Given the description of an element on the screen output the (x, y) to click on. 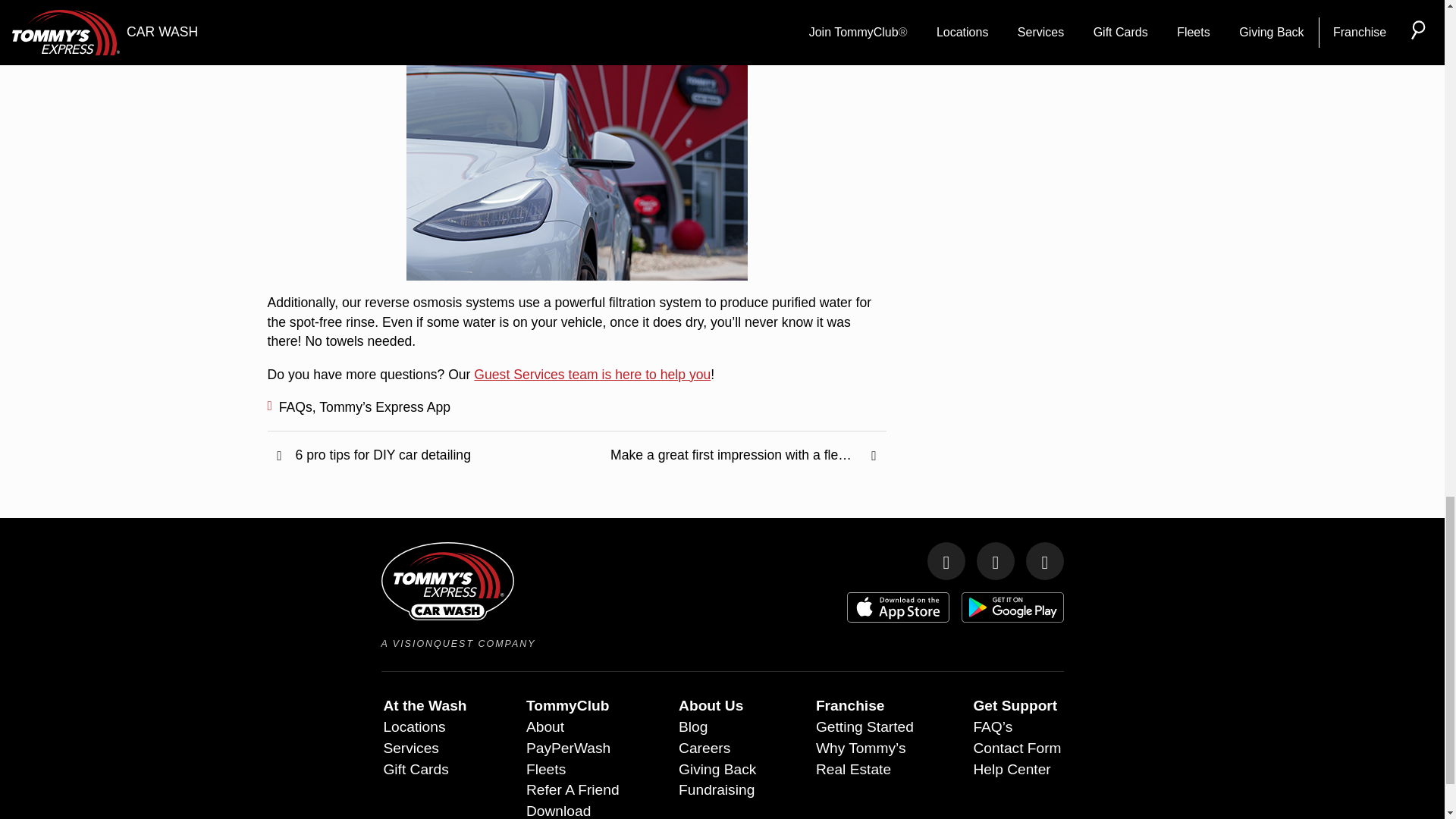
Tommys Express Car Wash (446, 580)
Get it on Google Play (1012, 607)
FAQs (296, 406)
Download on the App Store (897, 607)
6 pro tips for DIY car detailing (421, 456)
Guest Services team is here to help you (592, 374)
Make a great first impression with a fleet car wash plan (730, 456)
